Given the description of an element on the screen output the (x, y) to click on. 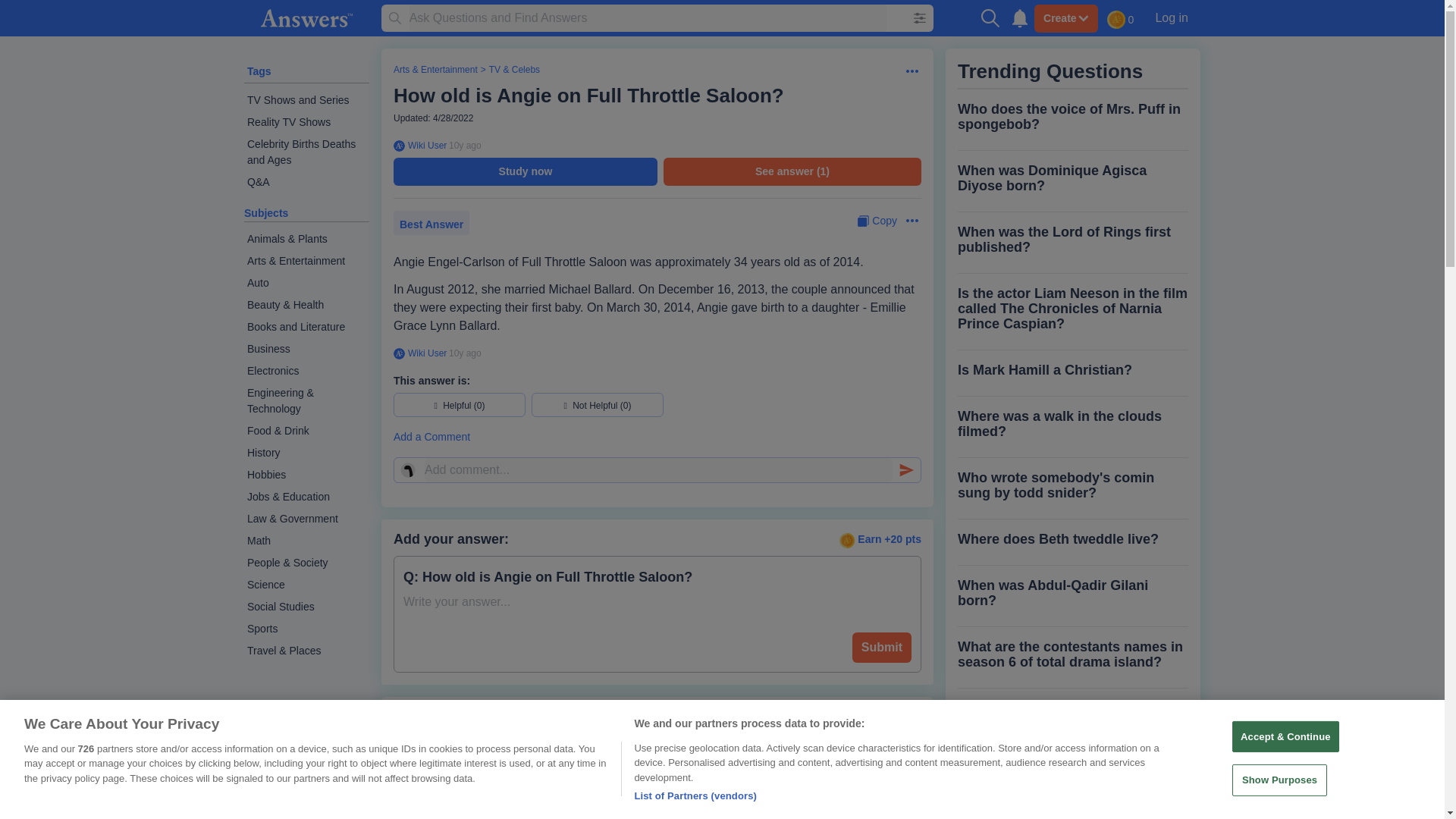
Social Studies (306, 607)
Create (1065, 18)
Log in (1170, 17)
Reality TV Shows (306, 122)
2014-04-11 14:55:30 (464, 353)
2014-04-11 14:55:30 (464, 145)
How old is Angie on Full Throttle Saloon? (588, 95)
Auto (306, 282)
Subjects (266, 213)
Science (306, 585)
